Given the description of an element on the screen output the (x, y) to click on. 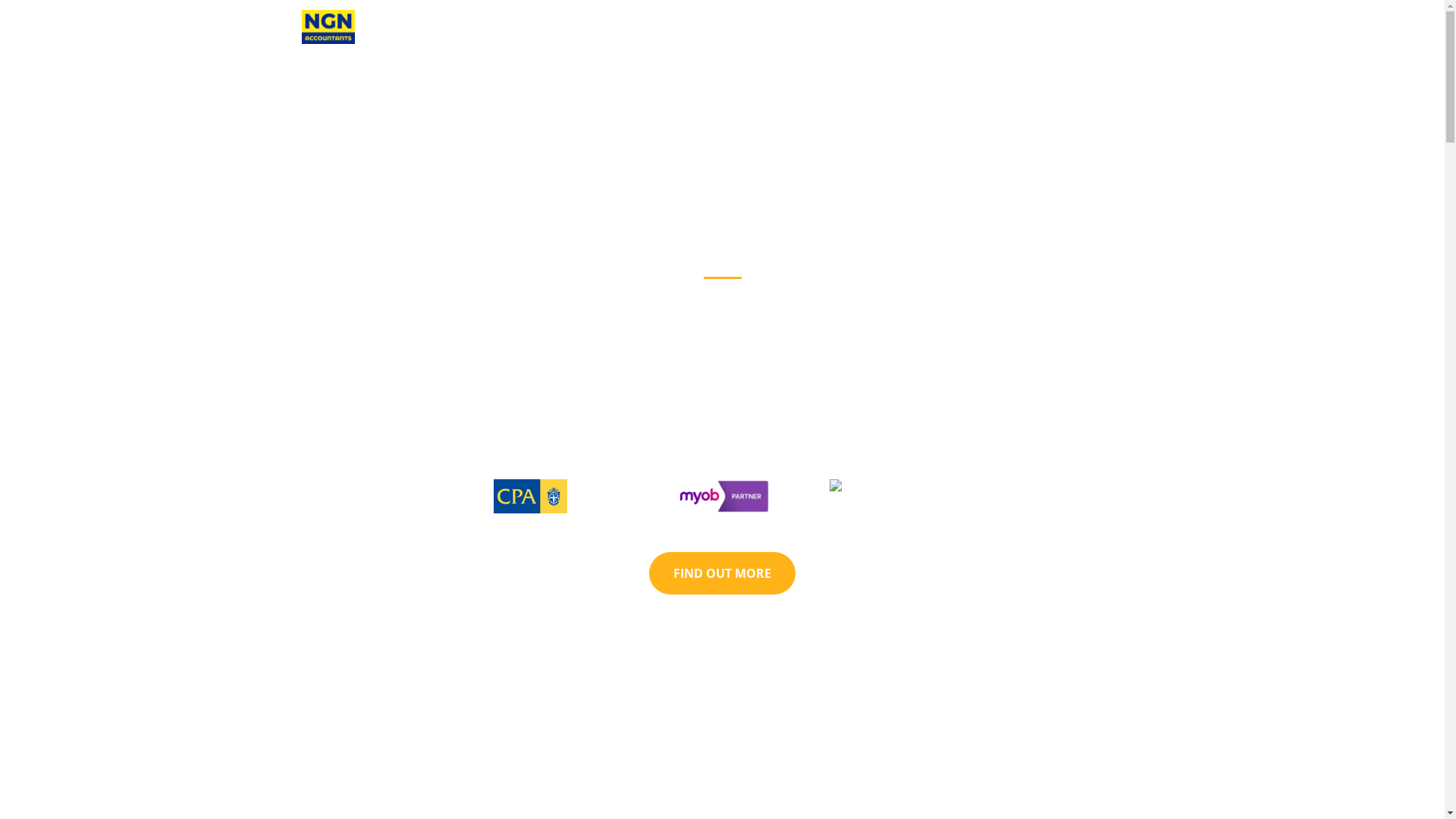
FIND OUT MORE Element type: text (722, 573)
CONTACT Element type: text (1106, 26)
ABOUT Element type: text (964, 26)
SERVICES Element type: text (1032, 26)
